Given the description of an element on the screen output the (x, y) to click on. 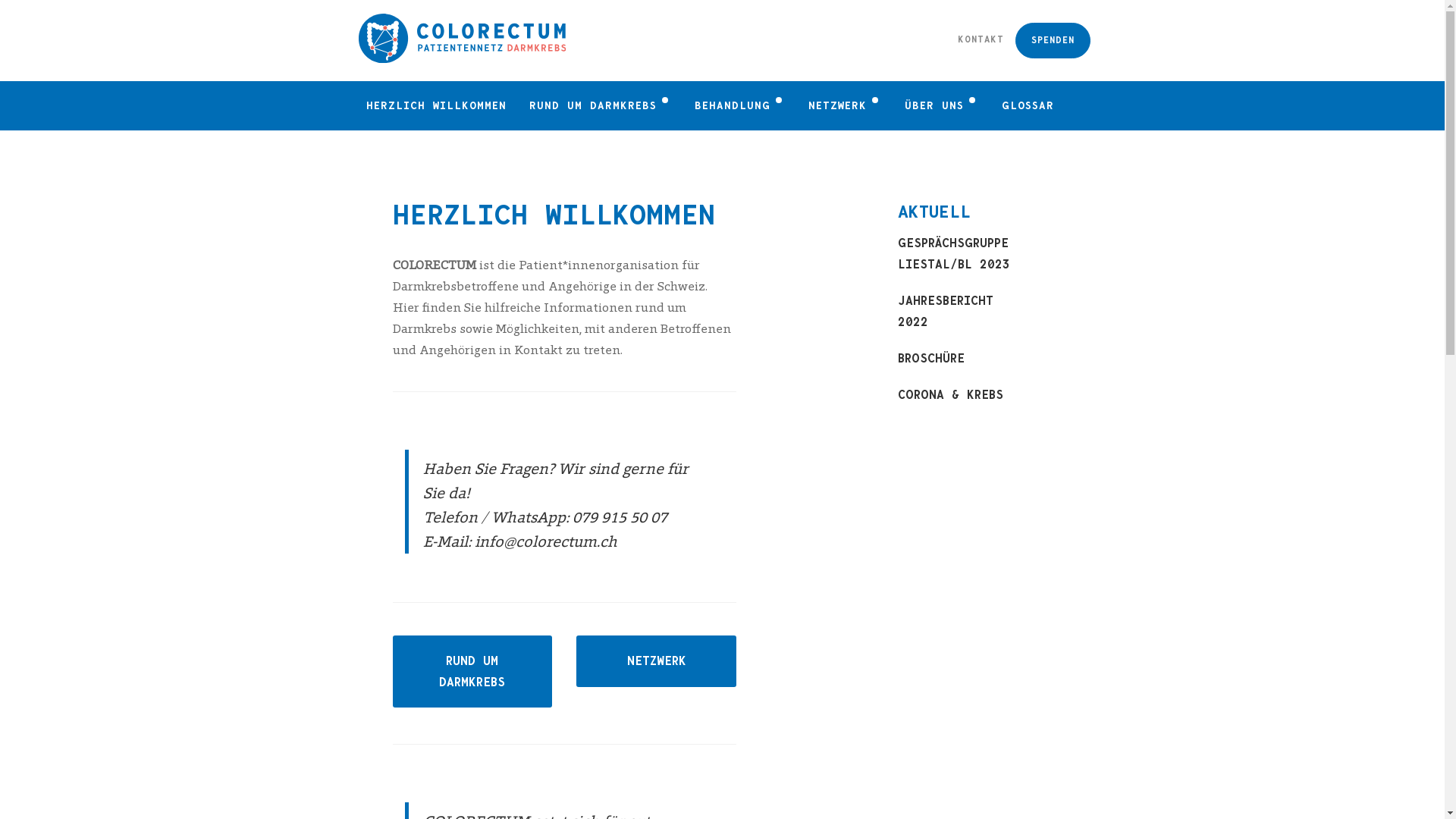
TUMOREIGENSCHAFTEN Element type: text (595, 242)
KONTAKT Element type: text (980, 39)
HERZLICH WILLKOMMEN Element type: text (435, 105)
COLONTOWN Element type: text (840, 173)
CHEMOTHERAPIE Element type: text (822, 208)
MITGLIED WERDEN Element type: text (937, 242)
BESTRAHLUNG Element type: text (735, 173)
NETZWERK Element type: text (655, 660)
CORONA & KREBS Element type: text (955, 394)
NETZWERK Element type: text (844, 105)
VEREIN COLORECTUM Element type: text (937, 208)
GLOSSAR Element type: text (1027, 105)
KLINISCHE STUDIEN Element type: text (735, 276)
IMMUNTHERAPIE Element type: text (822, 276)
KOLOREKTALKARZINOM Element type: text (595, 139)
OPERATION Element type: text (735, 139)
KONTAKT Element type: text (937, 310)
SPENDEN Element type: text (1051, 40)
ZIELGERICHTETE THERAPIE Element type: text (822, 242)
TUMORMARKER Element type: text (595, 276)
BEHANDLUNG Element type: text (739, 105)
TNM-KLASSIFIKATION Element type: text (595, 173)
VORSTAND Element type: text (937, 139)
STADIENEINTEILUNG Element type: text (595, 208)
JAHRESBERICHT 2022 Element type: text (955, 311)
DARMKREBSZENTREN SCHWEIZ Element type: text (735, 242)
RUND UM DARMKREBS Element type: text (599, 105)
RUND UM DARMKREBS Element type: text (472, 670)
